Given the description of an element on the screen output the (x, y) to click on. 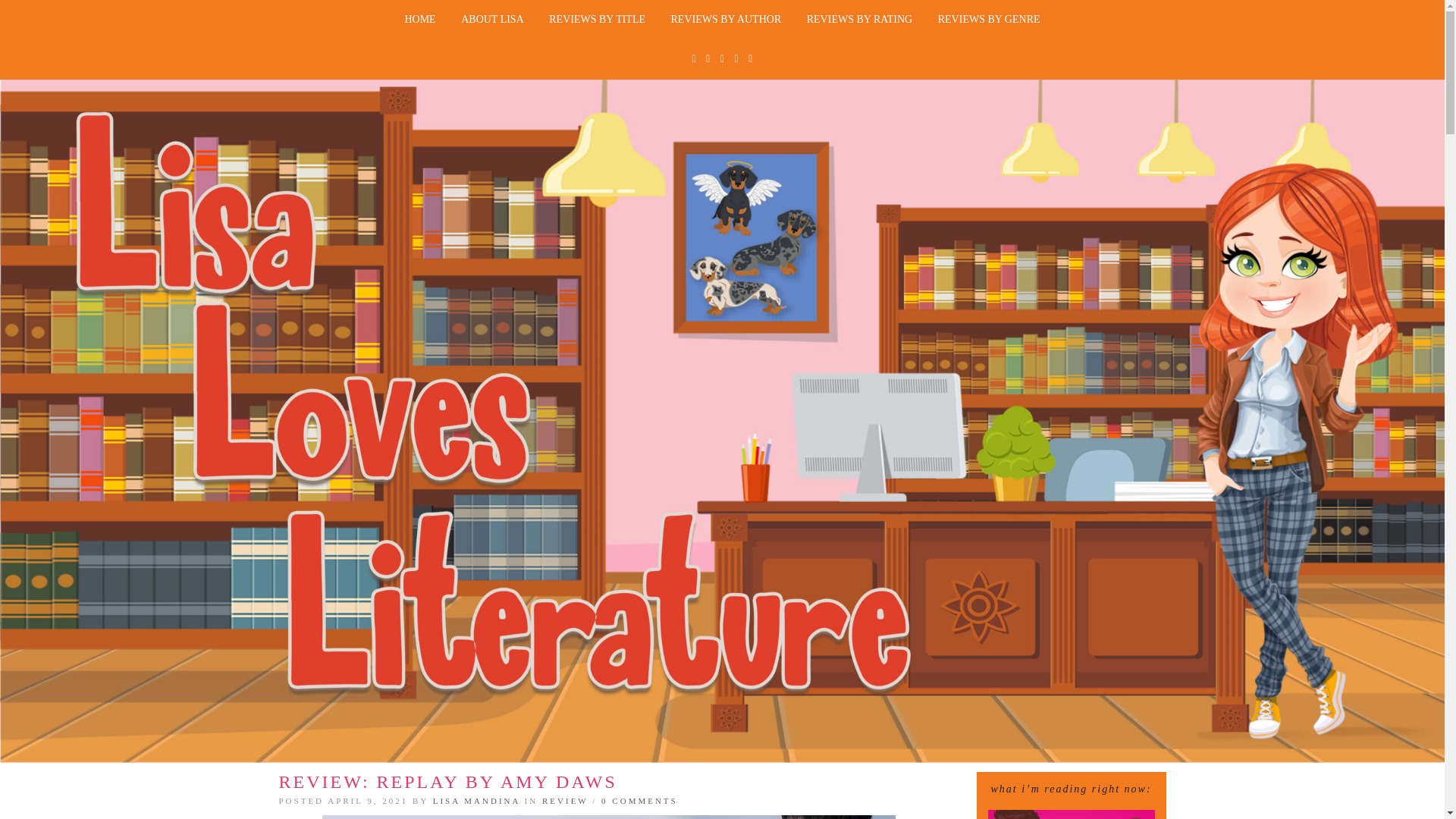
REVIEWS BY GENRE (988, 19)
0 COMMENTS (639, 800)
LISA MANDINA (475, 800)
REVIEW (564, 800)
REVIEWS BY TITLE (596, 19)
HOME (419, 19)
View all posts in Review (564, 800)
ABOUT LISA (492, 19)
REVIEWS BY RATING (858, 19)
REVIEWS BY AUTHOR (726, 19)
